Given the description of an element on the screen output the (x, y) to click on. 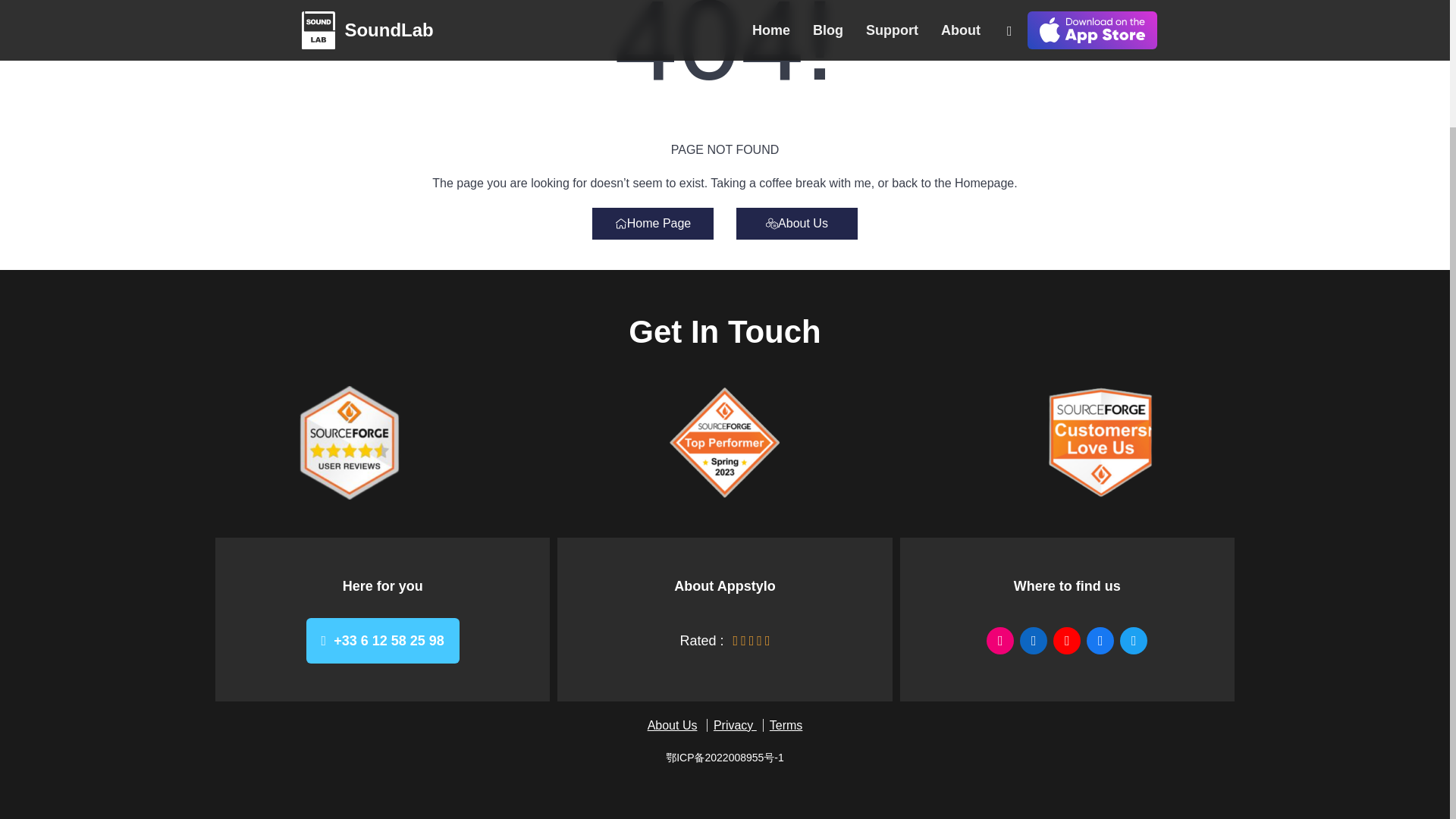
About Us (796, 223)
Terms (785, 725)
About Us (672, 725)
Home Page (652, 223)
Privacy (734, 725)
